Given the description of an element on the screen output the (x, y) to click on. 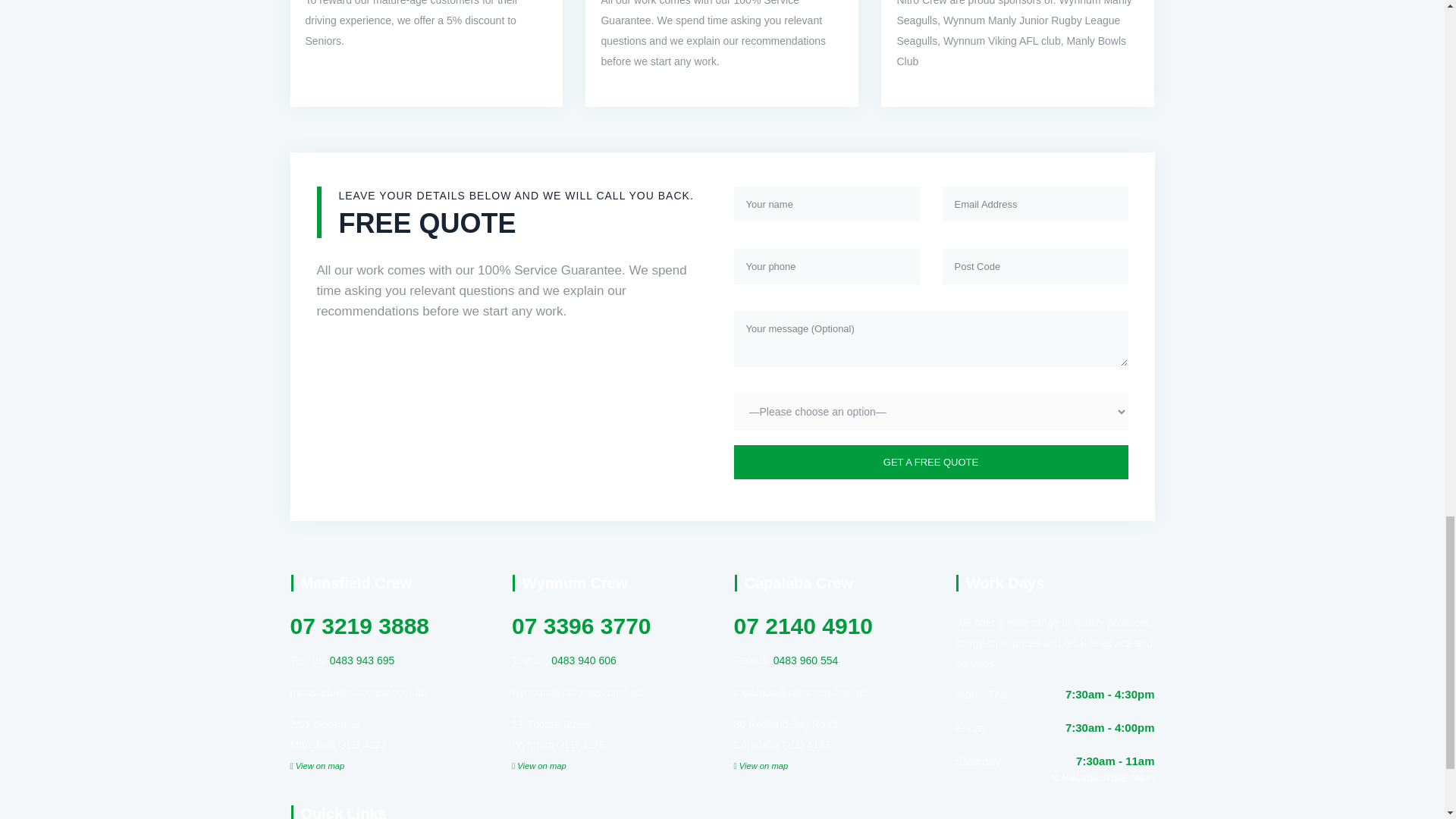
GET A FREE QUOTE (930, 462)
